Given the description of an element on the screen output the (x, y) to click on. 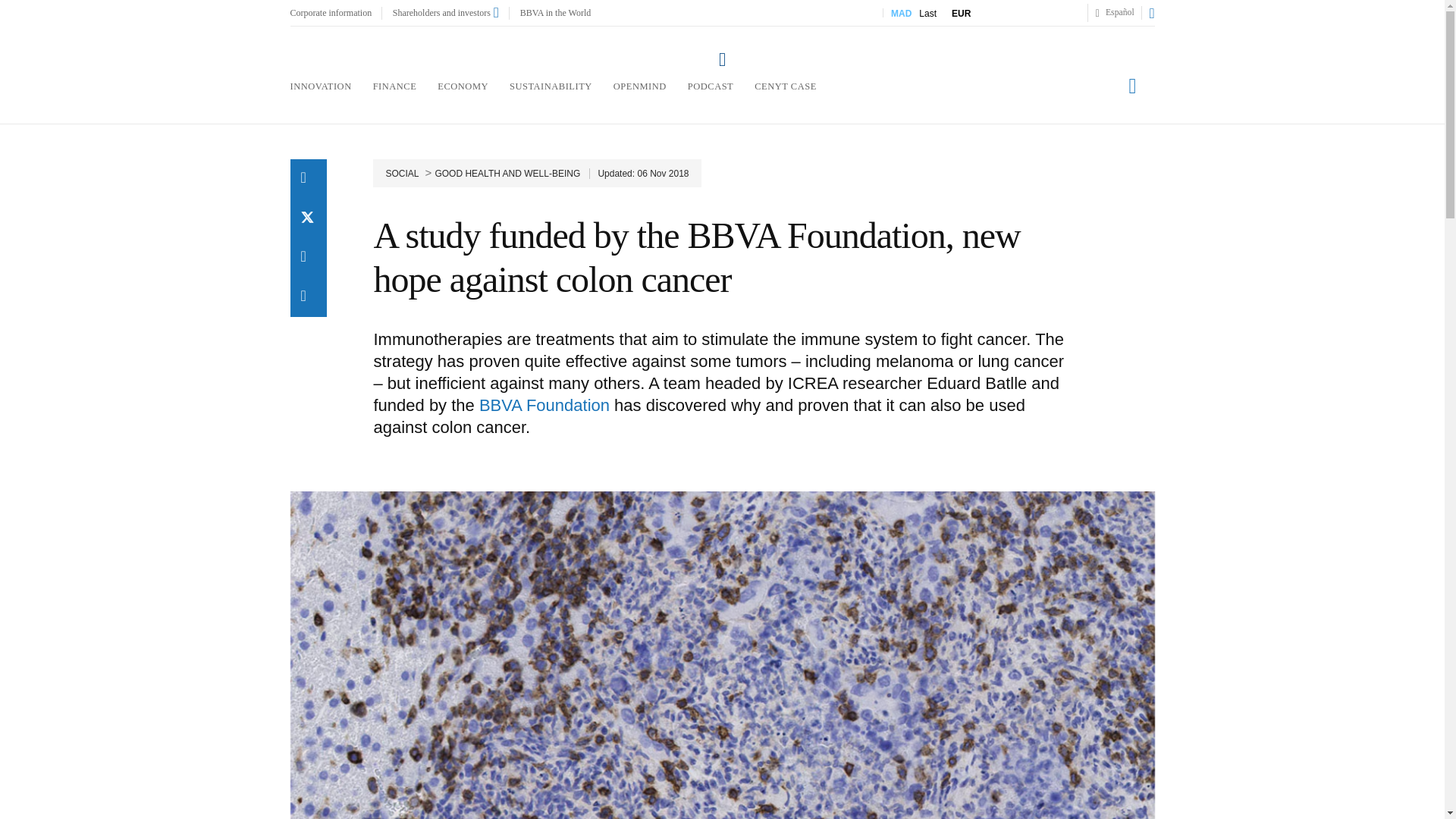
mercado (985, 12)
